Given the description of an element on the screen output the (x, y) to click on. 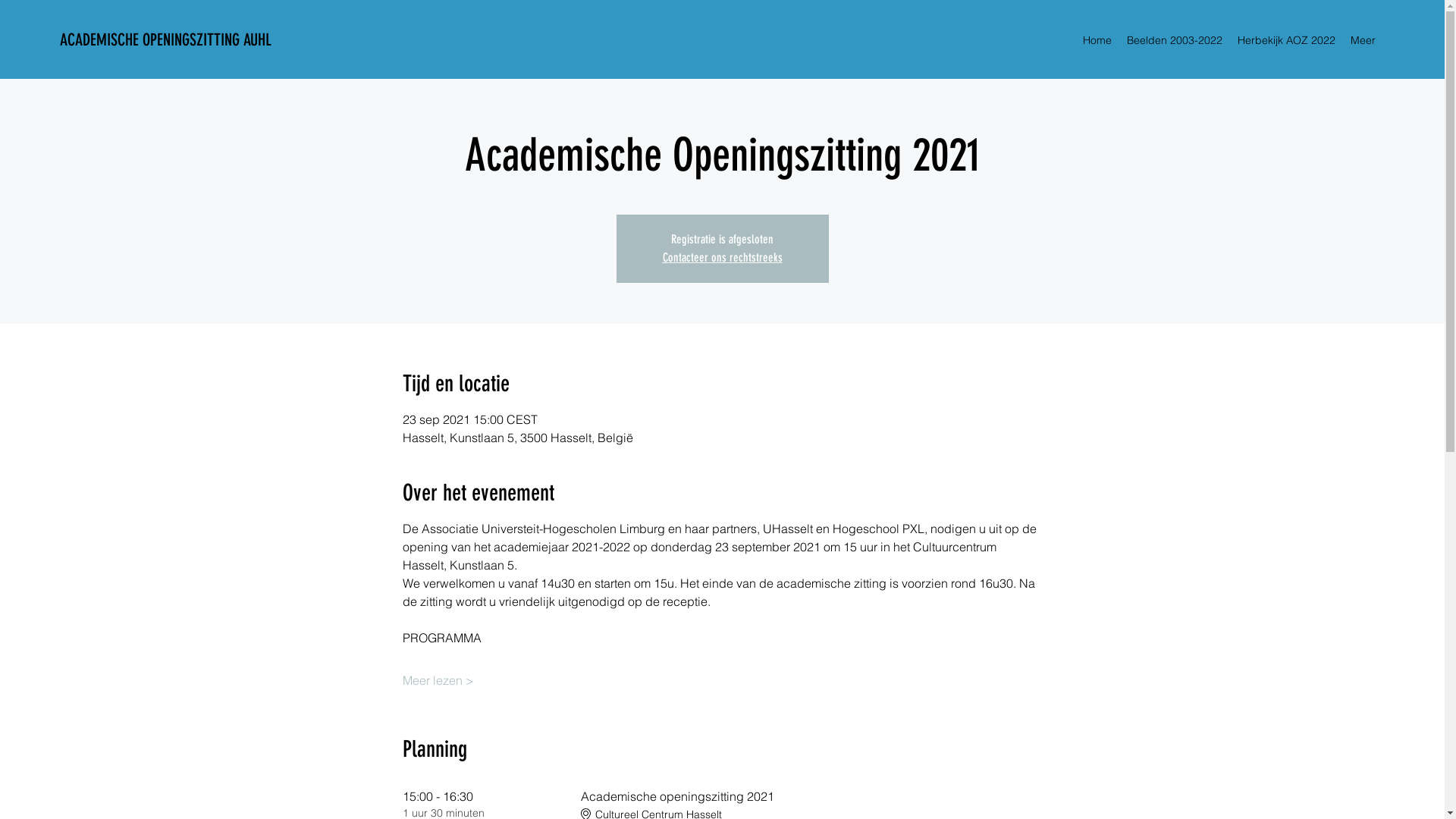
Home Element type: text (1097, 39)
Meer lezen > Element type: text (437, 680)
Herbekijk AOZ 2022 Element type: text (1286, 39)
ACADEMISCHE OPENINGSZITTING AUHL  Element type: text (167, 39)
Beelden 2003-2022 Element type: text (1174, 39)
Contacteer ons rechtstreeks Element type: text (722, 257)
